Given the description of an element on the screen output the (x, y) to click on. 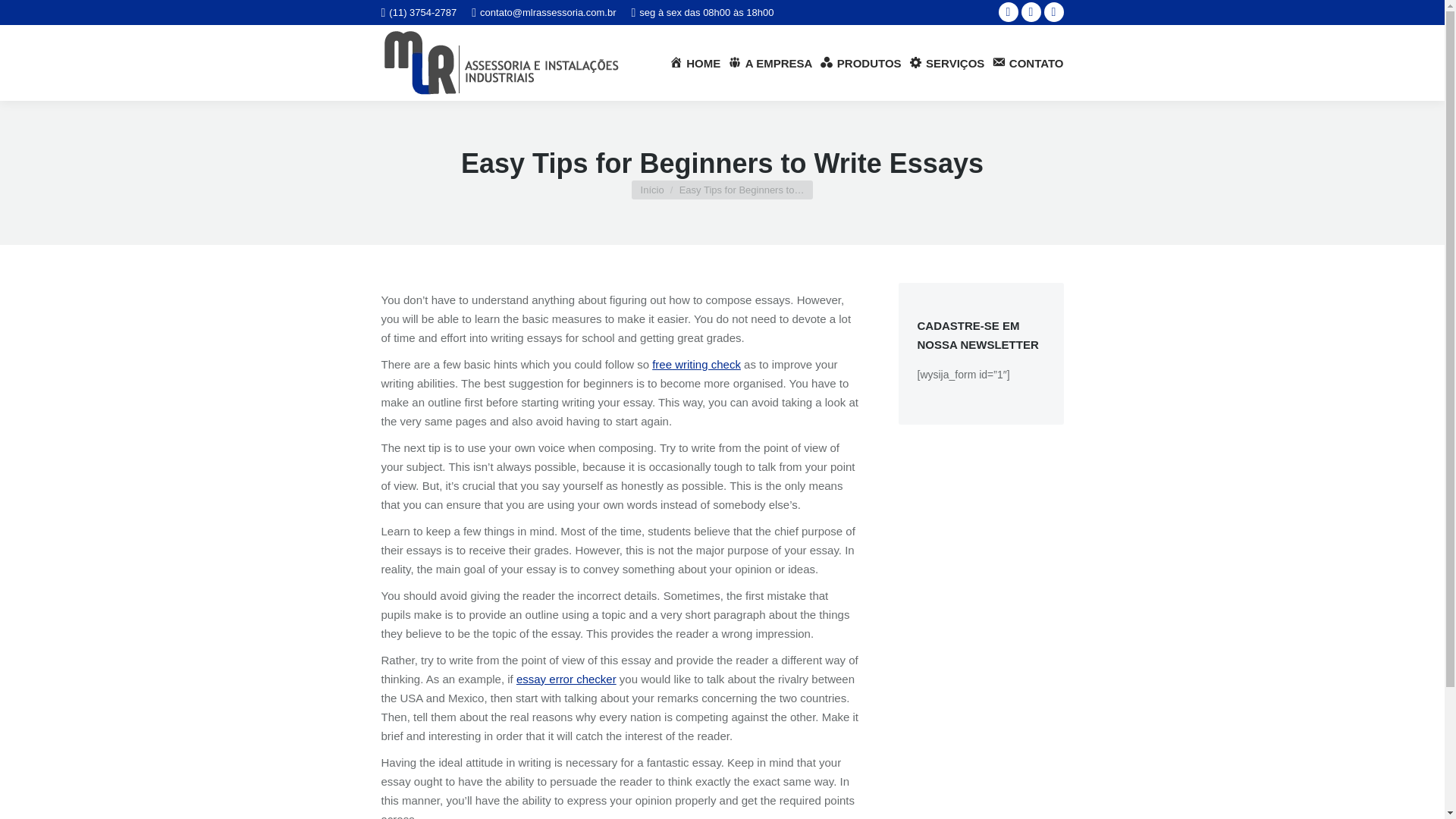
Twitter (1052, 12)
Twitter (1052, 12)
Facebook (1007, 12)
essay error checker (565, 678)
HOME (694, 63)
A EMPRESA (770, 63)
YouTube (1030, 12)
free writing check (696, 364)
Facebook (1007, 12)
PRODUTOS (860, 63)
